Given the description of an element on the screen output the (x, y) to click on. 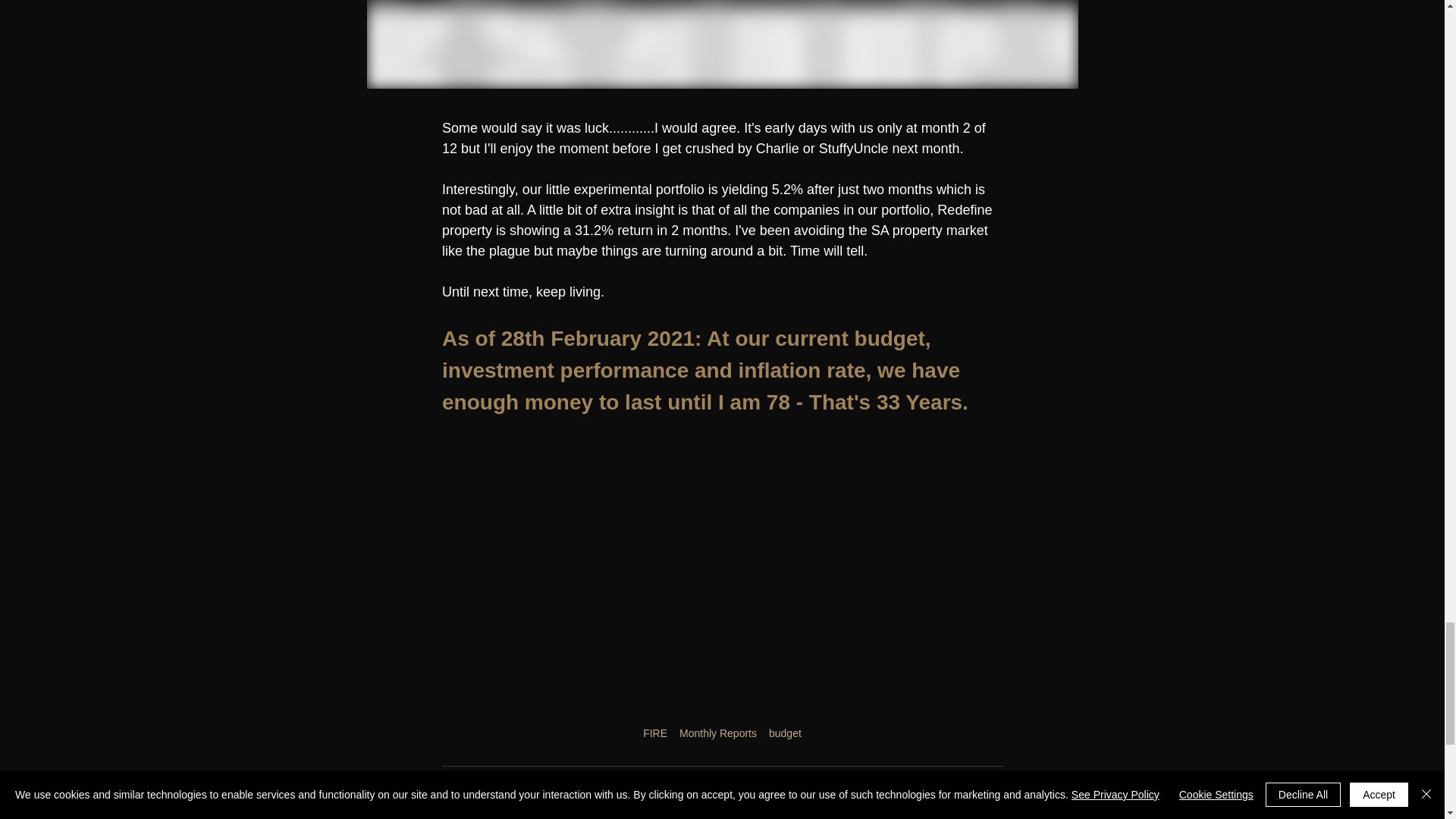
Monthly Reports (718, 733)
Monthly Reports (834, 788)
Investing (981, 788)
remote content (721, 580)
budget (785, 733)
FIRE (654, 733)
My Journey (916, 788)
